Given the description of an element on the screen output the (x, y) to click on. 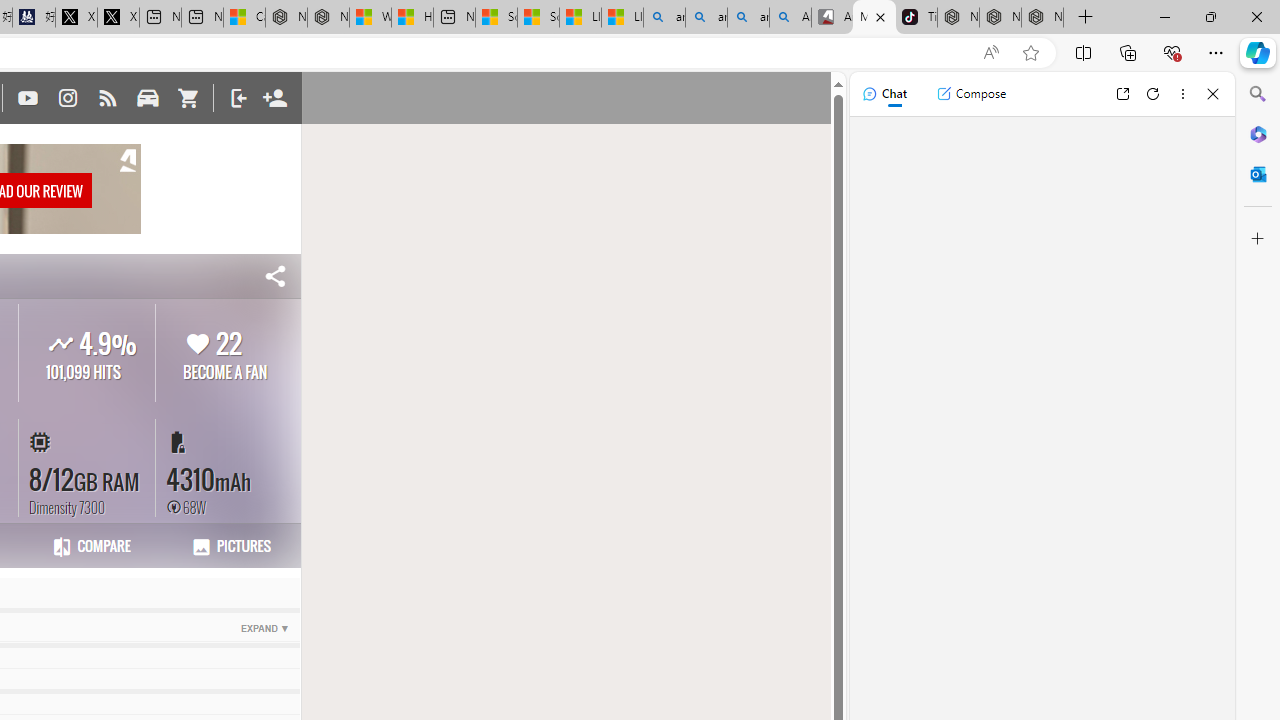
TikTok (916, 17)
Nordace - Best Sellers (958, 17)
amazon - Search (706, 17)
Chat (884, 93)
Huge shark washes ashore at New York City beach | Watch (411, 17)
